Given the description of an element on the screen output the (x, y) to click on. 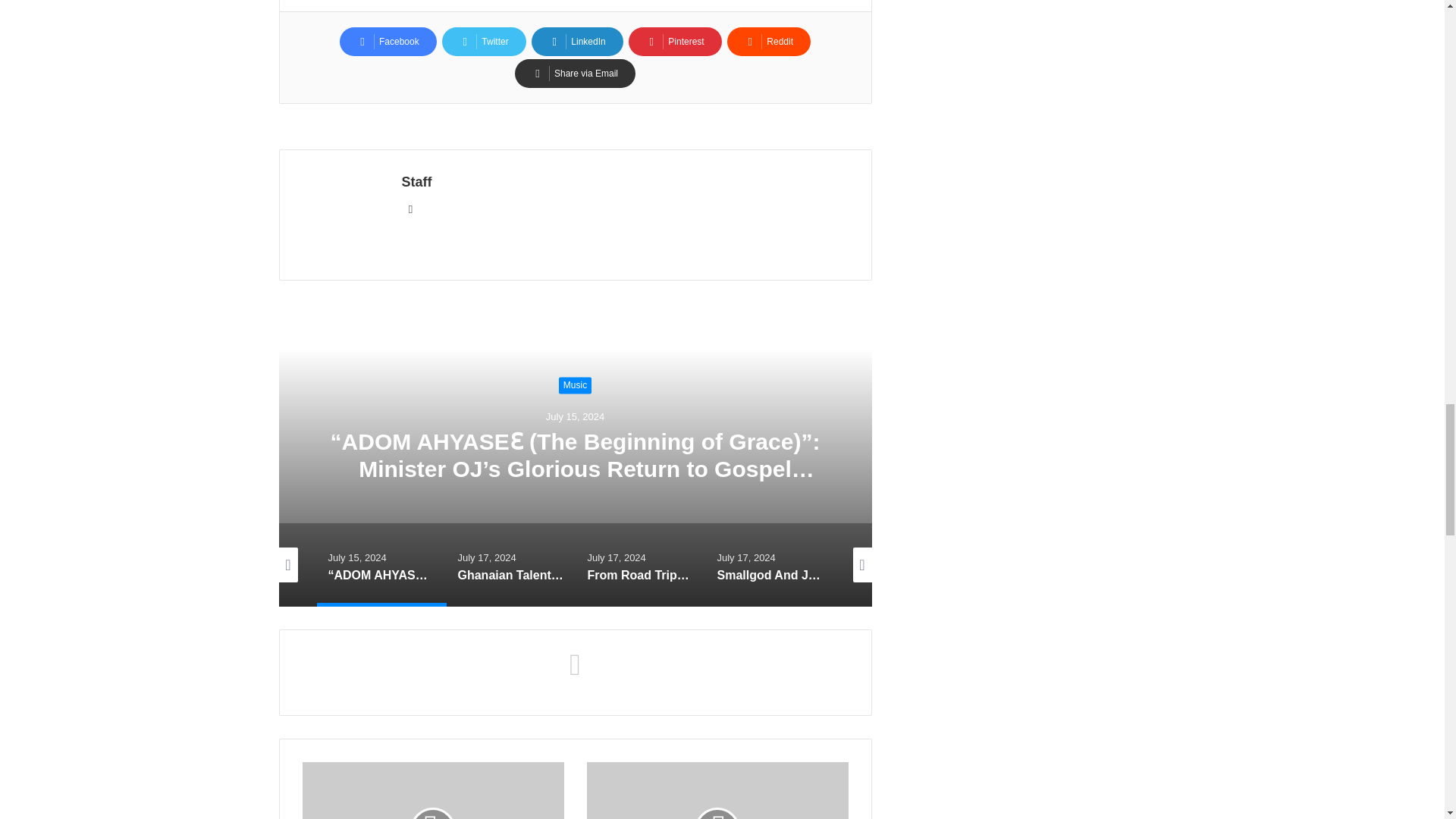
LinkedIn (577, 41)
Facebook (387, 41)
Twitter (483, 41)
LinkedIn (577, 41)
Twitter (483, 41)
Reddit (768, 41)
Reddit (768, 41)
Pinterest (674, 41)
Staff (416, 181)
Pinterest (674, 41)
Website (410, 208)
Share via Email (574, 72)
Facebook (387, 41)
